Given the description of an element on the screen output the (x, y) to click on. 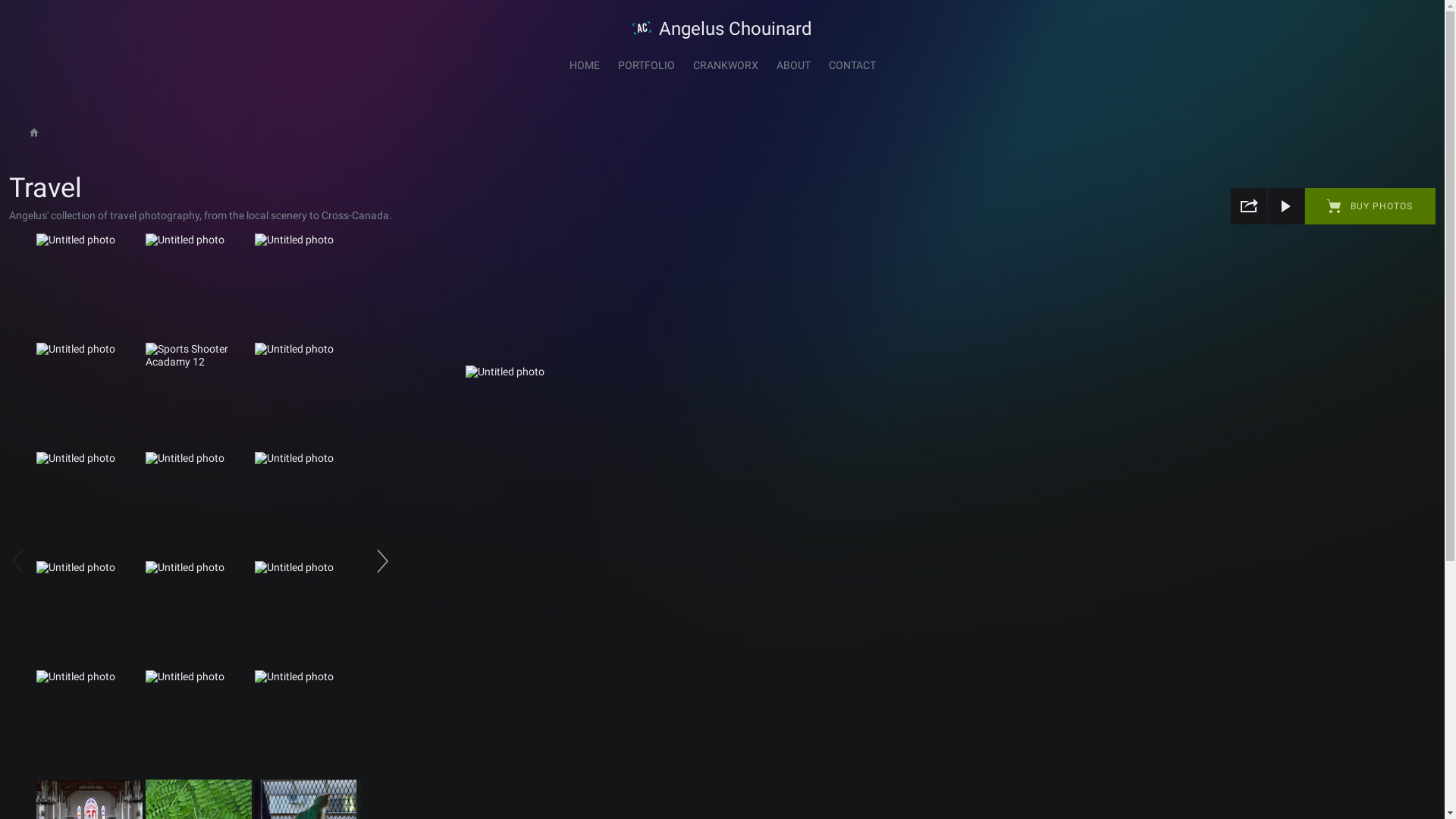
Angelus Chouinard Element type: text (735, 31)
BUY PHOTOS Element type: text (1370, 206)
Share Gallery Element type: hover (1248, 206)
CONTACT Element type: text (851, 65)
ABOUT Element type: text (793, 65)
HOME Element type: text (583, 65)
CRANKWORX Element type: text (725, 65)
PORTFOLIO Element type: text (645, 65)
Slideshow Element type: hover (1285, 206)
